Given the description of an element on the screen output the (x, y) to click on. 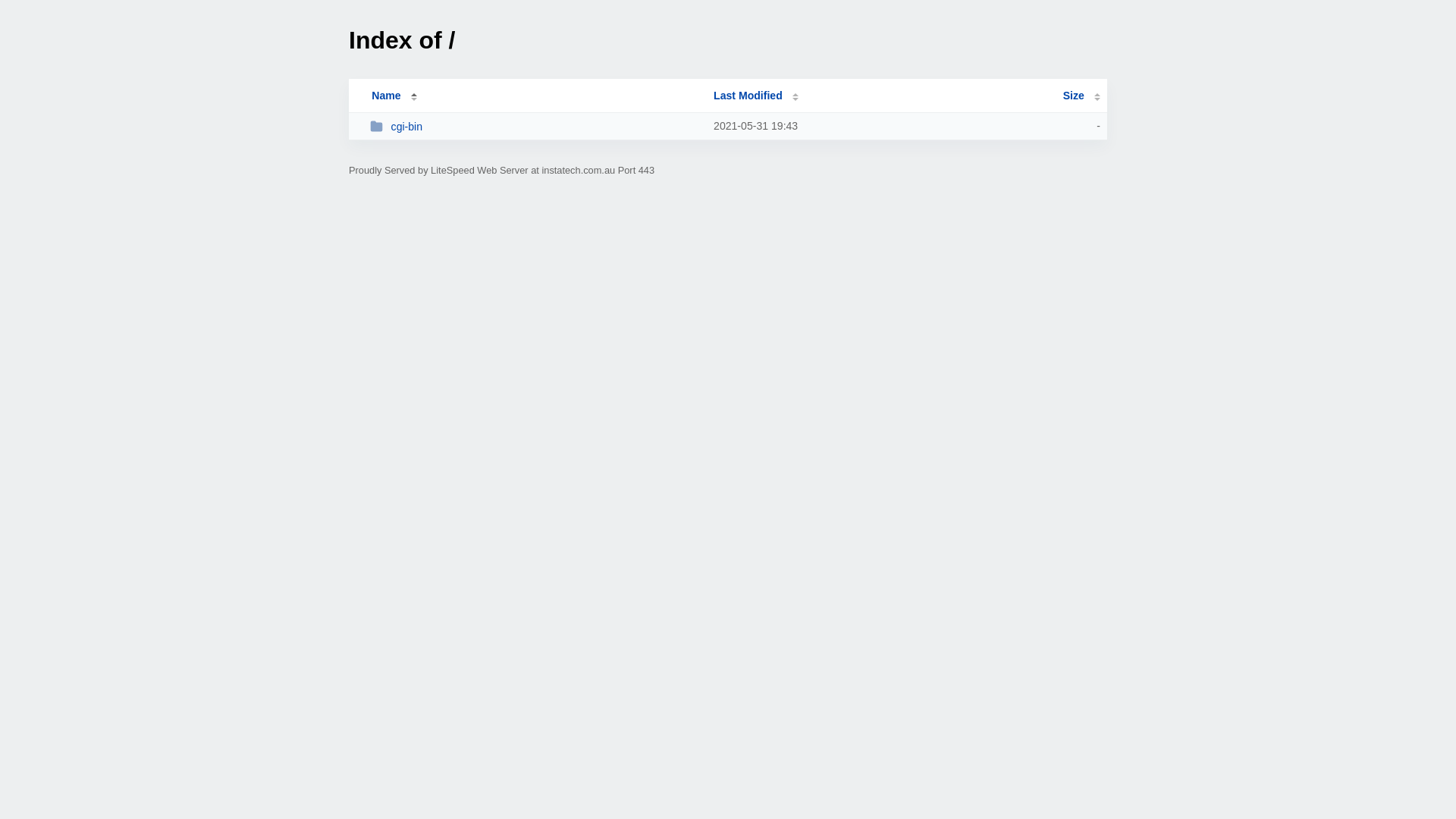
cgi-bin Element type: text (534, 125)
Name Element type: text (385, 95)
Size Element type: text (1081, 95)
Last Modified Element type: text (755, 95)
